Given the description of an element on the screen output the (x, y) to click on. 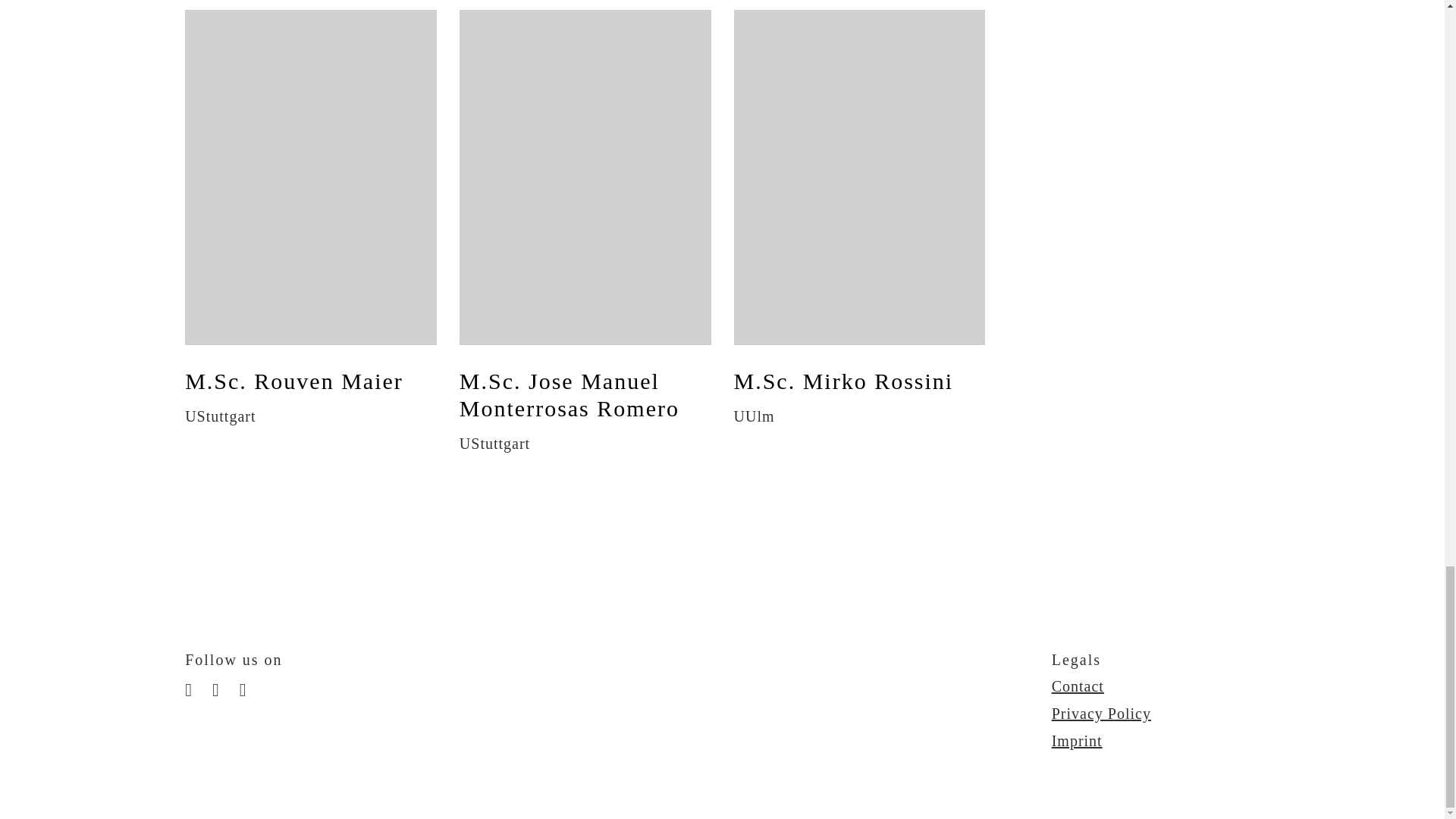
Privacy Policy (1101, 713)
Contact (1077, 686)
Imprint (1076, 740)
